Given the description of an element on the screen output the (x, y) to click on. 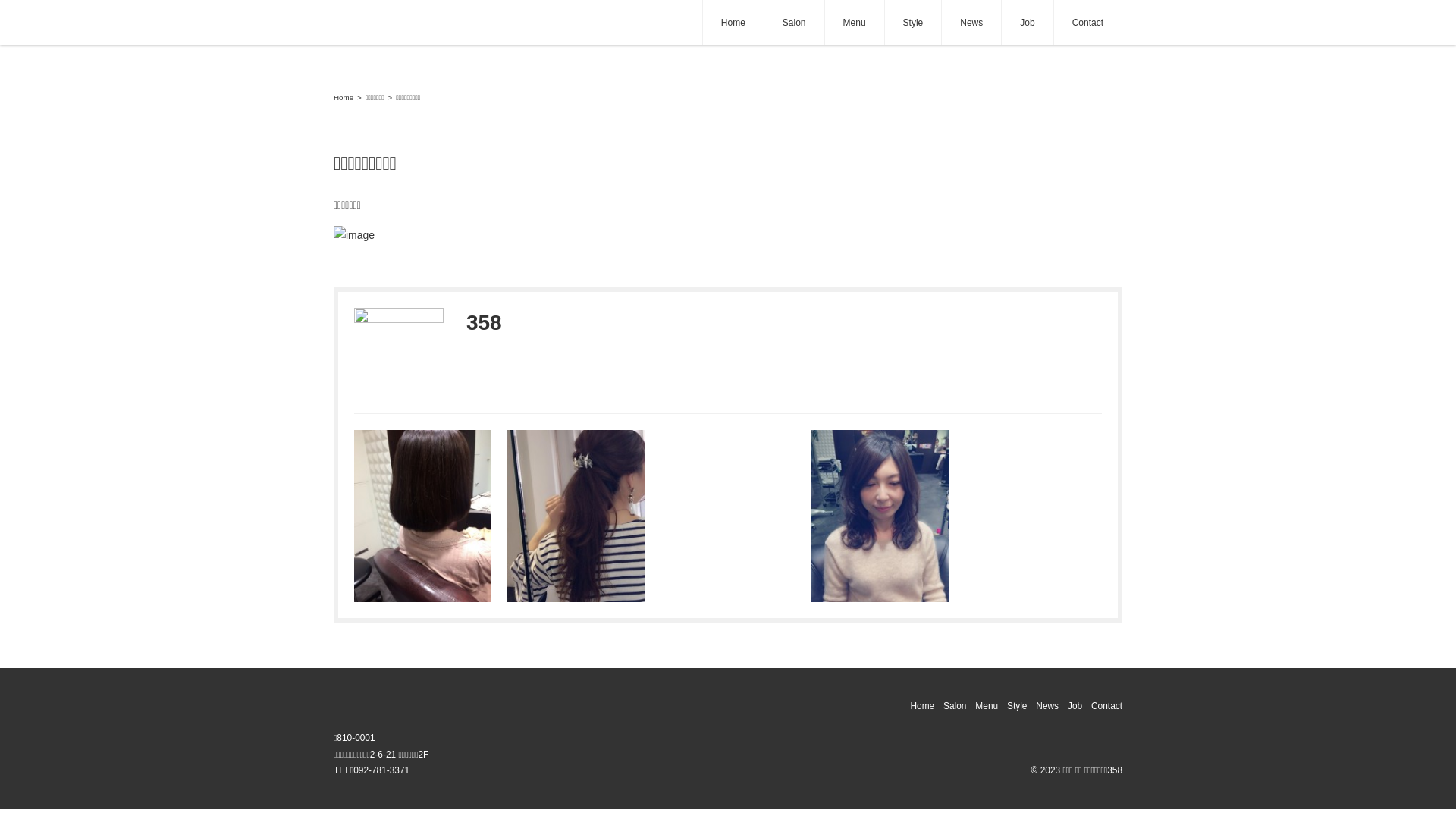
Style Element type: text (912, 22)
News Element type: text (971, 22)
Contact Element type: text (1087, 22)
Menu Element type: text (986, 705)
Page TOP Element type: text (1425, 788)
Contact Element type: text (1106, 705)
Style Element type: text (1016, 705)
Menu Element type: text (854, 22)
Salon Element type: text (794, 22)
Job Element type: text (1074, 705)
Job Element type: text (1026, 22)
Salon Element type: text (954, 705)
News Element type: text (1046, 705)
Home Element type: text (922, 705)
Home Element type: text (343, 97)
Home Element type: text (732, 22)
